Given the description of an element on the screen output the (x, y) to click on. 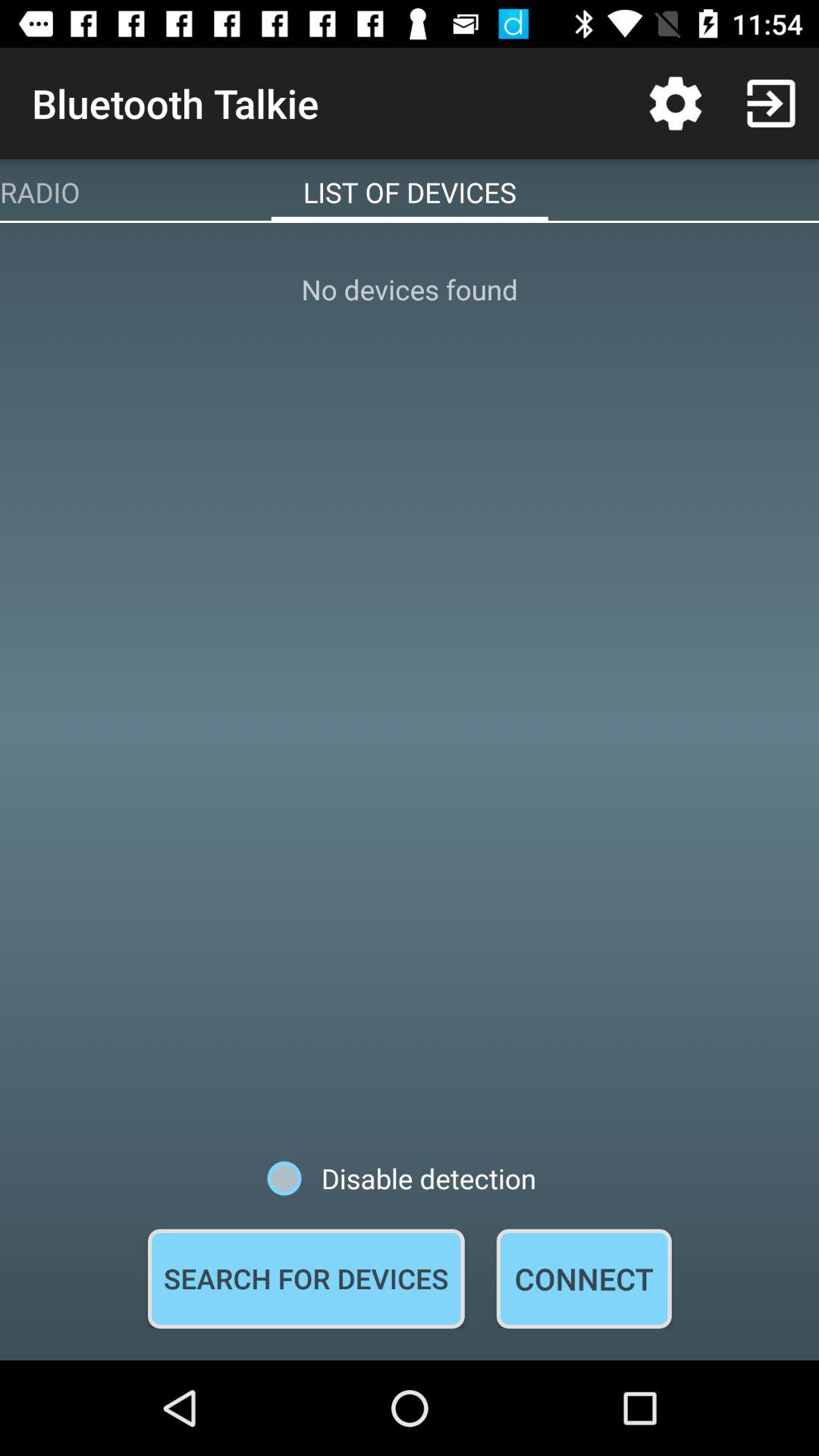
turn on icon above disable detection icon (409, 690)
